Given the description of an element on the screen output the (x, y) to click on. 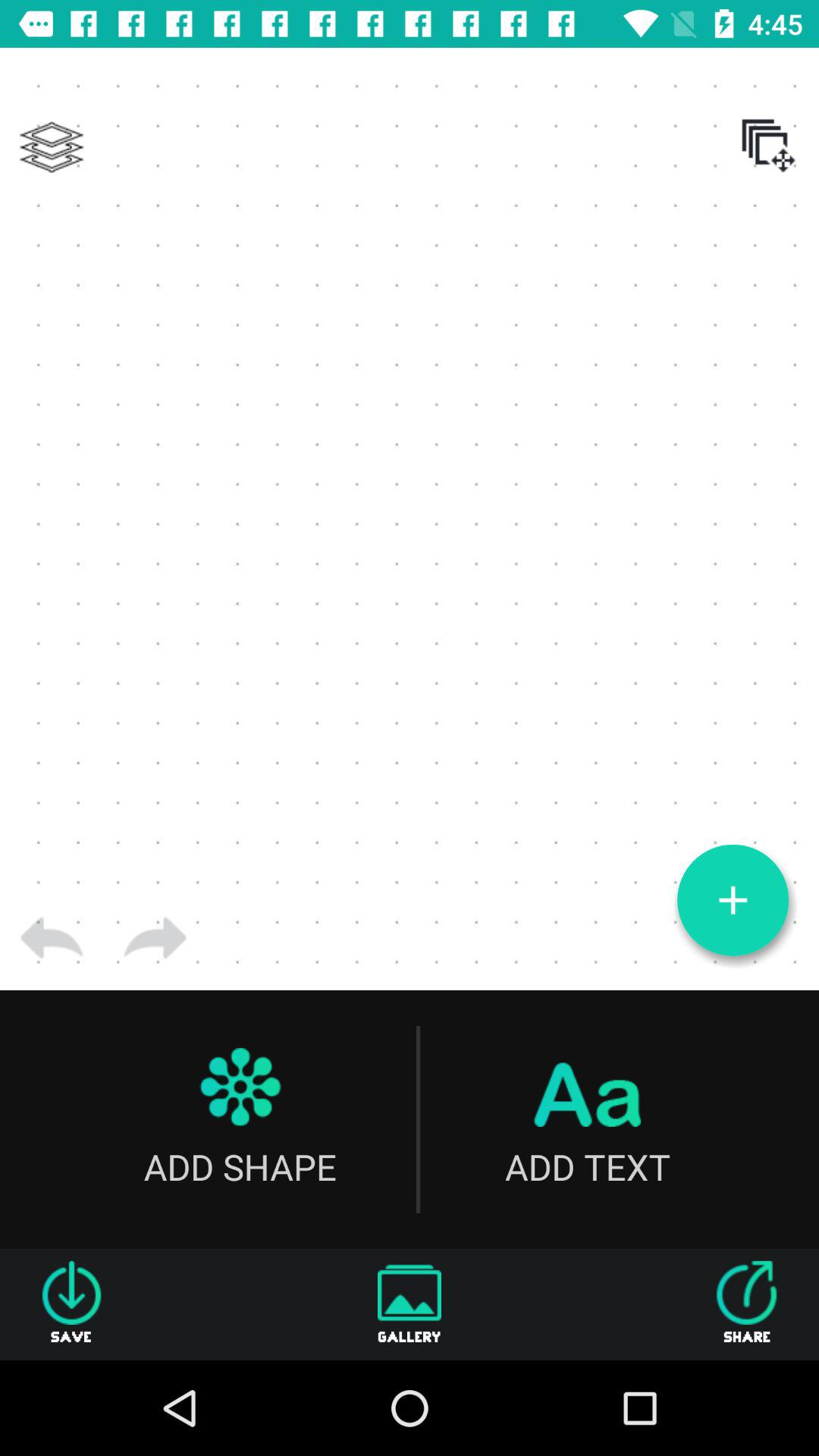
turn off the item above the save (51, 938)
